Given the description of an element on the screen output the (x, y) to click on. 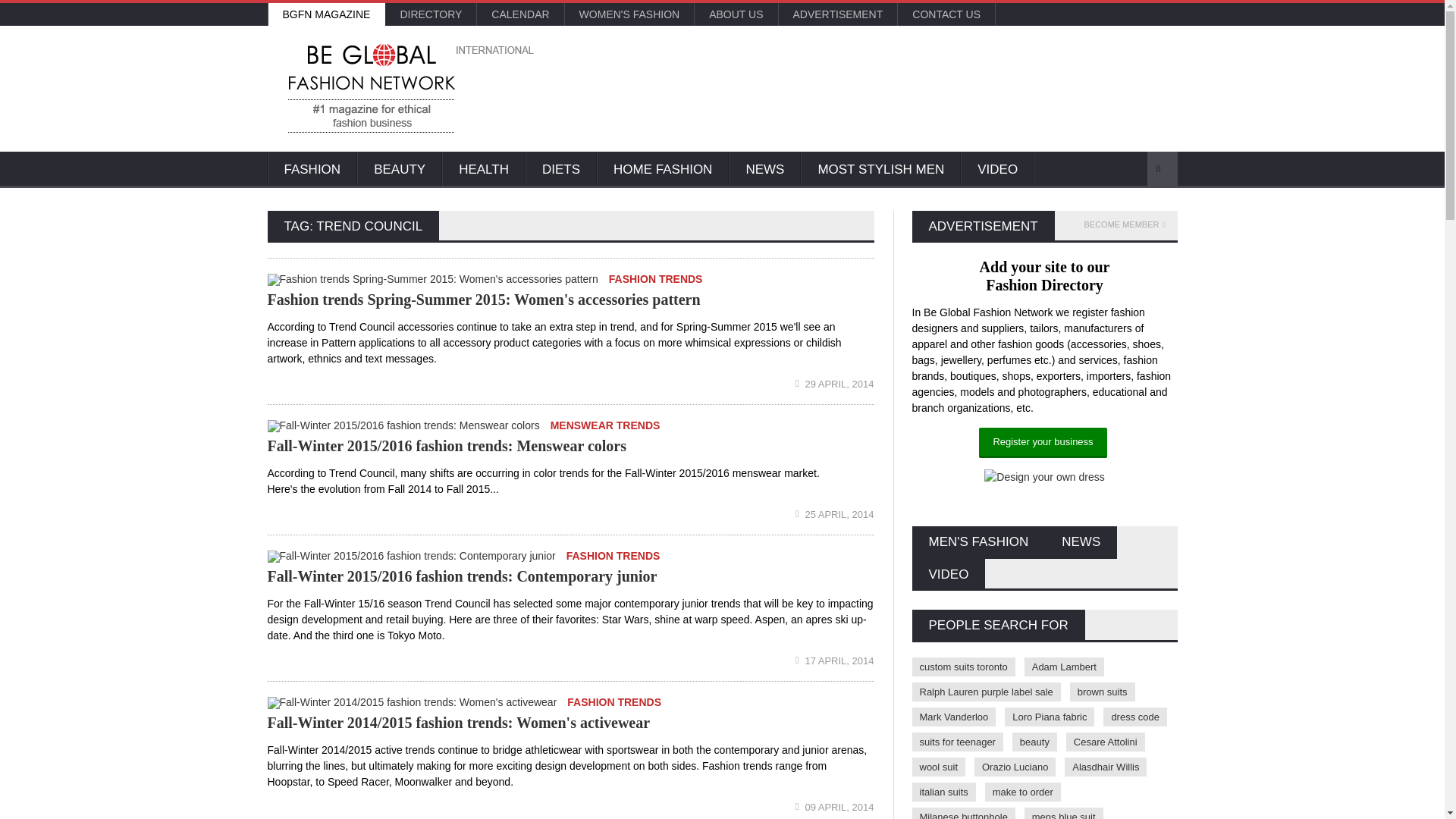
ADVERTISEMENT (836, 14)
HEALTH (483, 169)
WOMEN'S FASHION (629, 14)
BGFN MAGAZINE (326, 14)
CONTACT US (946, 14)
BEAUTY (399, 169)
CALENDAR (520, 14)
ABOUT US (735, 14)
FASHION (311, 169)
DIETS (560, 169)
